Given the description of an element on the screen output the (x, y) to click on. 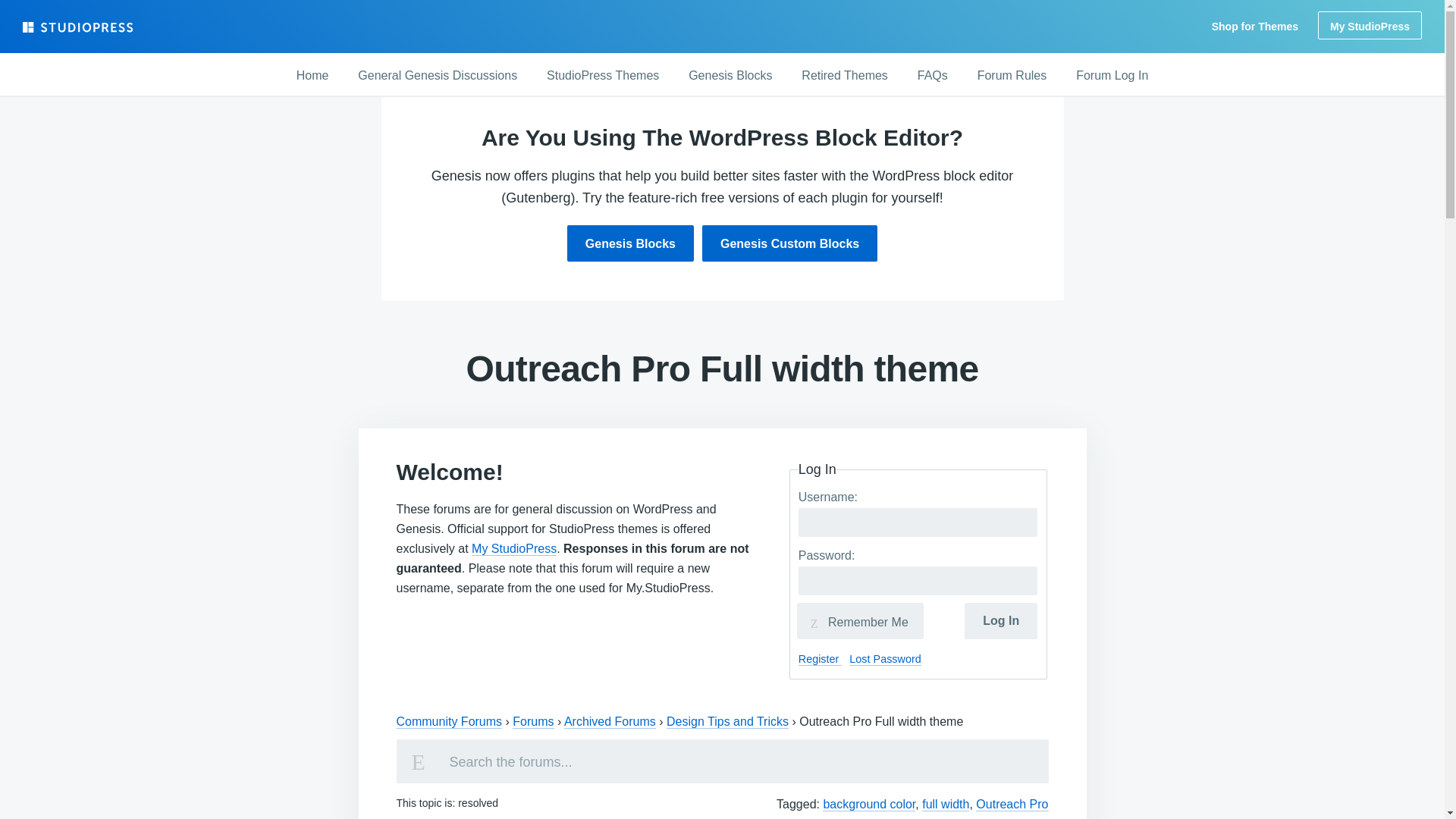
Shop for Themes (1254, 27)
Home (312, 75)
Retired Themes (844, 75)
Outreach Pro (1011, 804)
StudioPress Themes (602, 75)
Lost Password (884, 658)
Register (820, 658)
General Genesis Discussions (437, 75)
Register (820, 658)
